Given the description of an element on the screen output the (x, y) to click on. 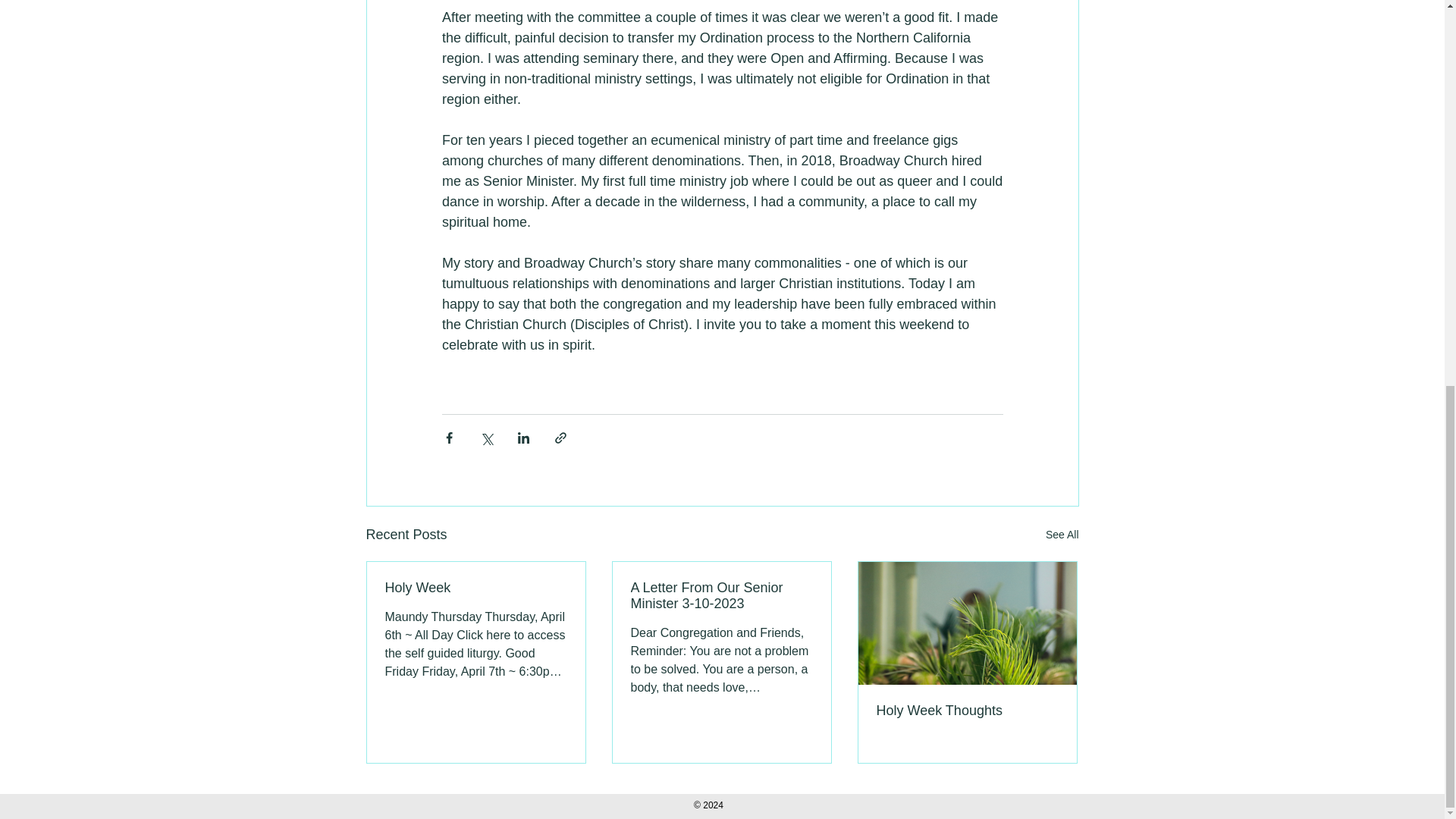
See All (1061, 535)
Holy Week Thoughts (967, 710)
Holy Week (476, 587)
A Letter From Our Senior Minister 3-10-2023 (721, 595)
